Given the description of an element on the screen output the (x, y) to click on. 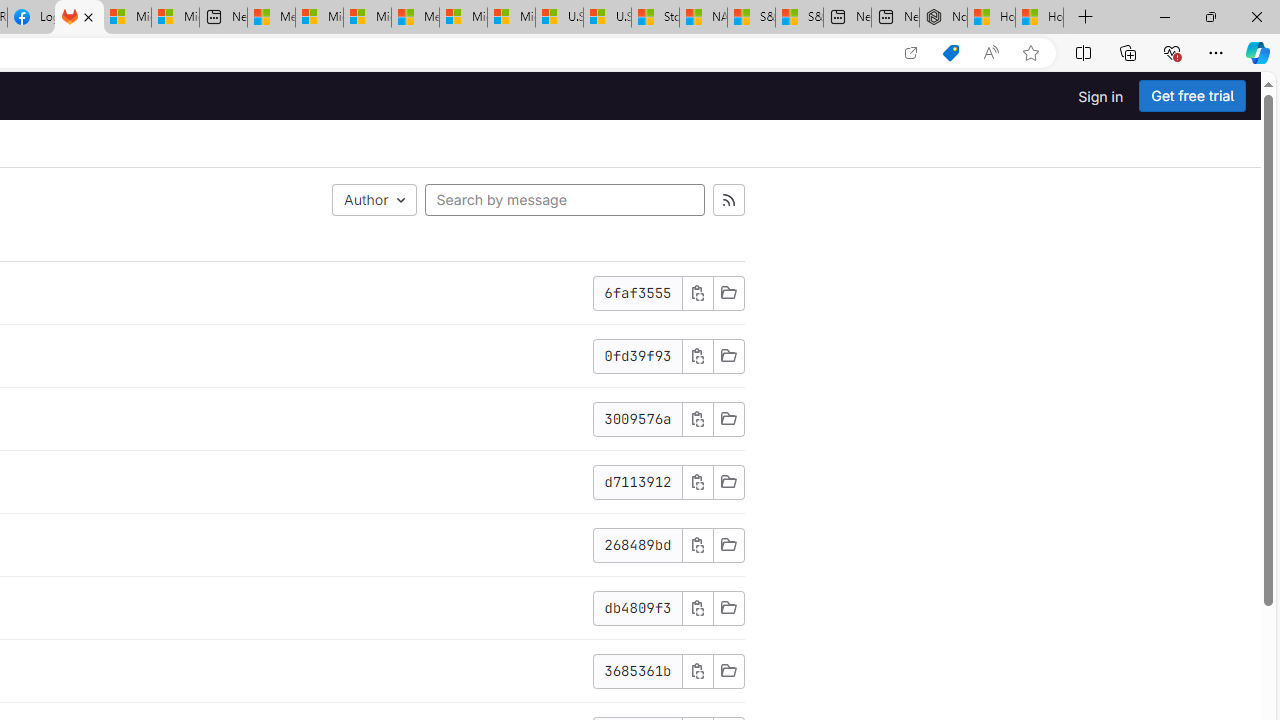
Sign in (1100, 95)
Shopping in Microsoft Edge (950, 53)
Copied (697, 671)
Get free trial (1192, 95)
Browse Files (727, 671)
Get free trial (1192, 95)
Search by message (564, 200)
